Given the description of an element on the screen output the (x, y) to click on. 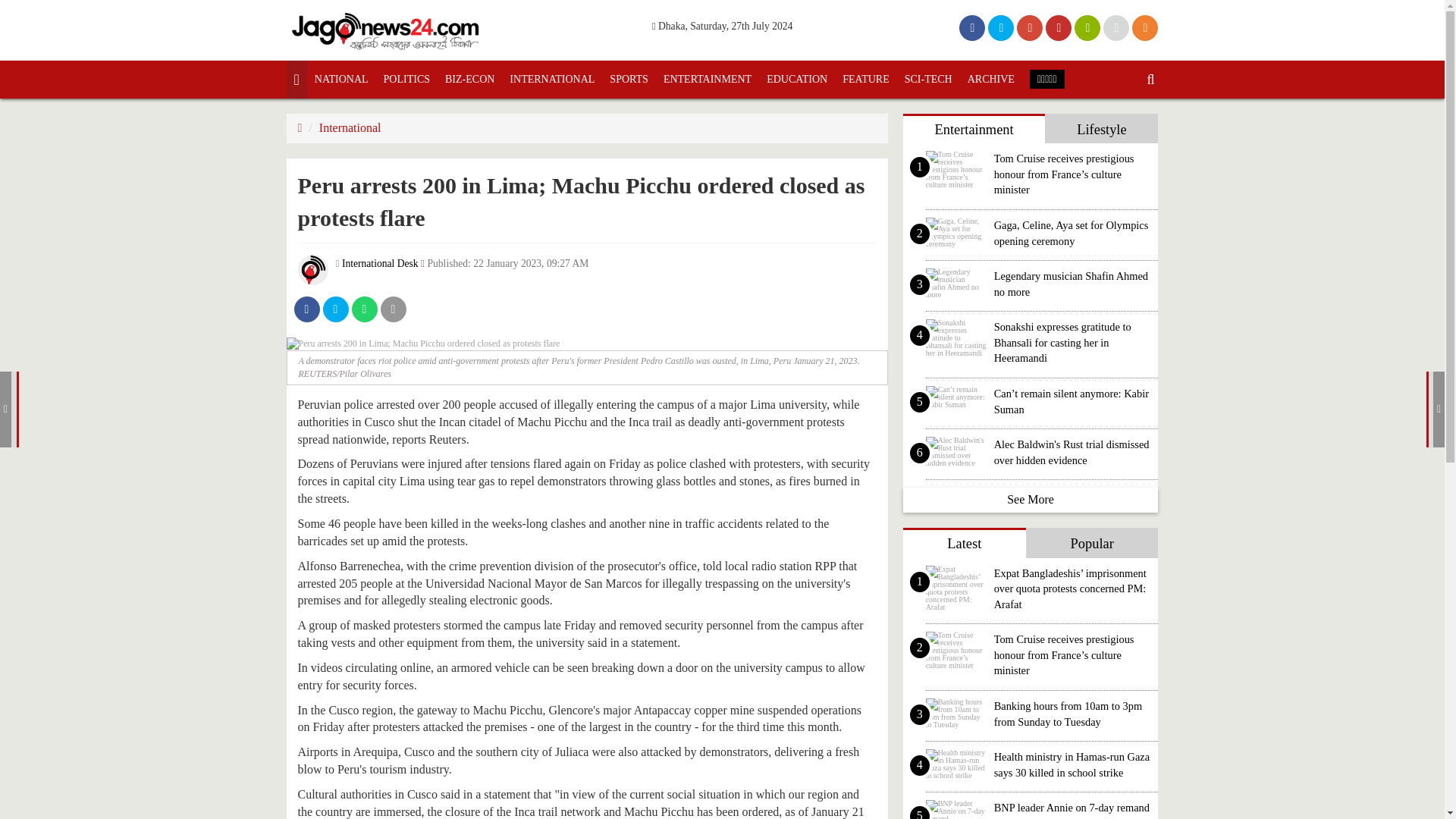
Instagram (1169, 26)
Google Plus (1029, 27)
NATIONAL (341, 79)
International (349, 127)
Facebook (972, 27)
POLITICS (406, 79)
INTERNATIONAL (552, 79)
EDUCATION (796, 79)
FEATURE (865, 79)
ENTERTAINMENT (707, 79)
SCI-TECH (927, 79)
RSS (1144, 27)
Android (1087, 27)
Youtube (1058, 27)
SPORTS (629, 79)
